Given the description of an element on the screen output the (x, y) to click on. 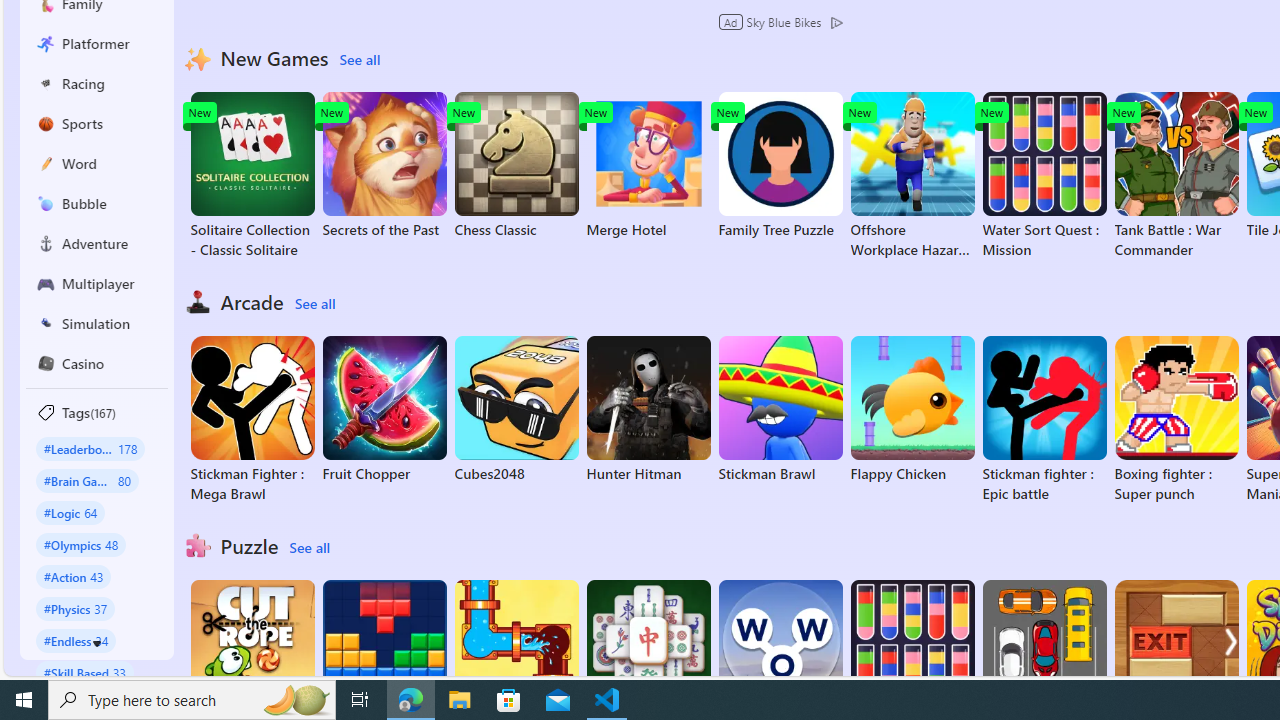
Stickman Brawl (780, 409)
#Action 43 (73, 575)
Family Tree Puzzle (780, 165)
#Physics 37 (75, 608)
Hunter Hitman (648, 409)
Class: arrow-bottom button-default-style-remove (97, 643)
#Brain Games 80 (87, 480)
Stickman Fighter : Mega Brawl (251, 419)
Fruit Chopper (384, 409)
Solitaire Collection - Classic Solitaire (251, 175)
#Skill Based 33 (84, 672)
#Logic 64 (70, 511)
Class: ad-choice  ad-choice-mono  (836, 21)
Secrets of the Past (384, 165)
